Given the description of an element on the screen output the (x, y) to click on. 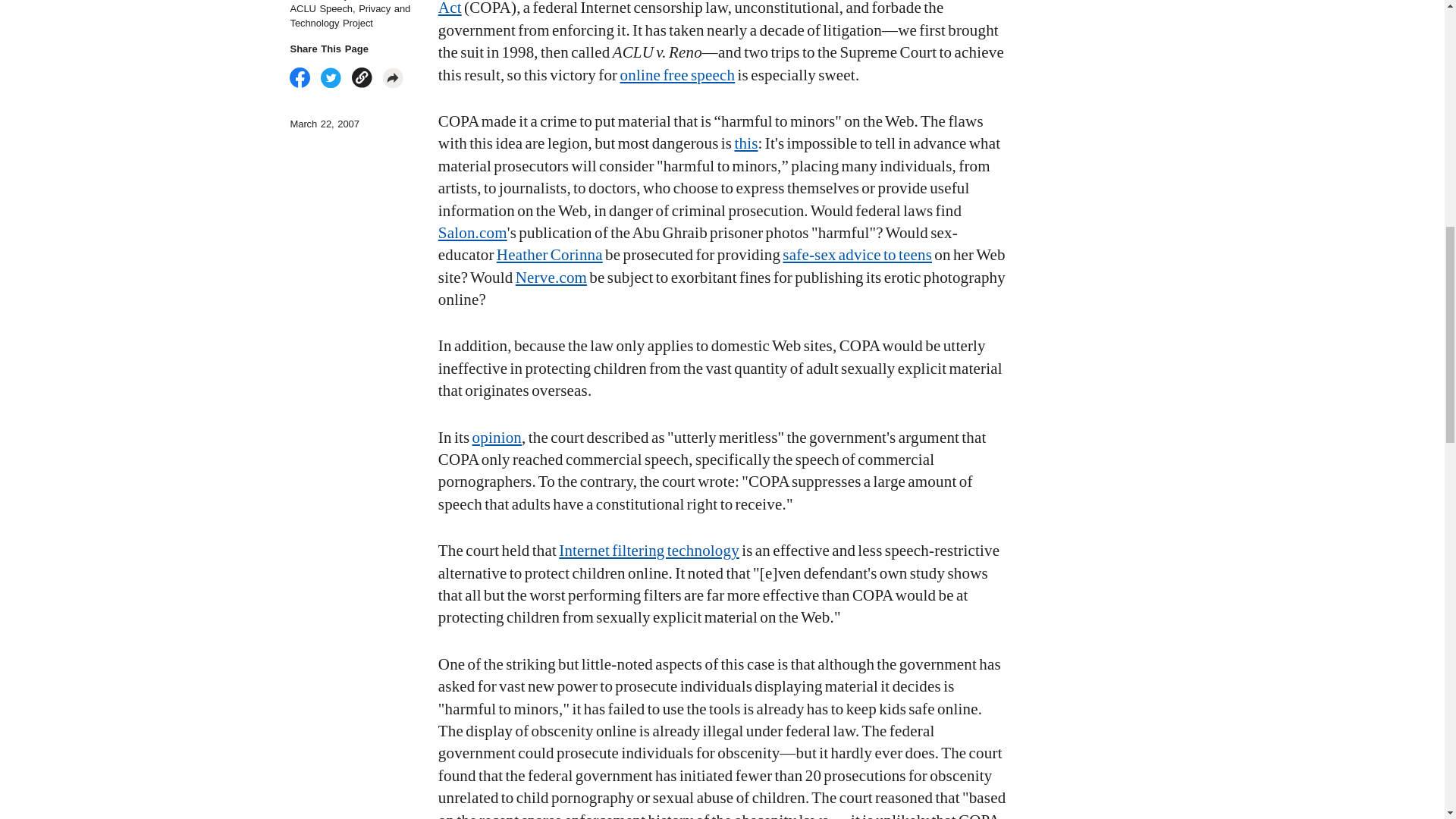
Tweet (330, 77)
Copy (362, 77)
Share on Facebook (299, 77)
